Given the description of an element on the screen output the (x, y) to click on. 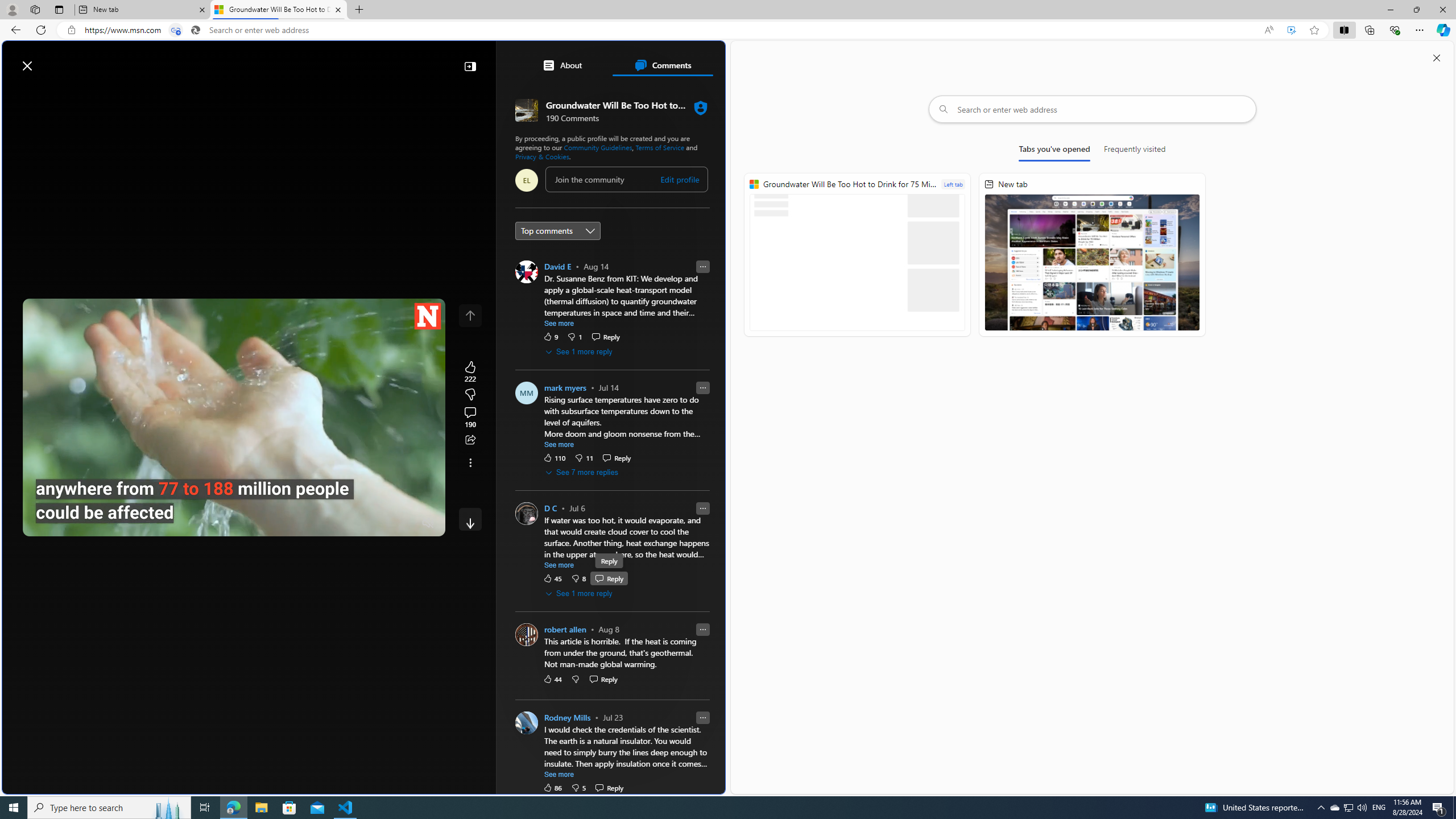
robert allen (564, 629)
Nordace.com (577, 249)
Captions (383, 523)
Rodney Mills (567, 717)
Open settings (699, 60)
Progress Bar (234, 508)
Enhance video (1291, 29)
Search or enter web address (1092, 108)
